Given the description of an element on the screen output the (x, y) to click on. 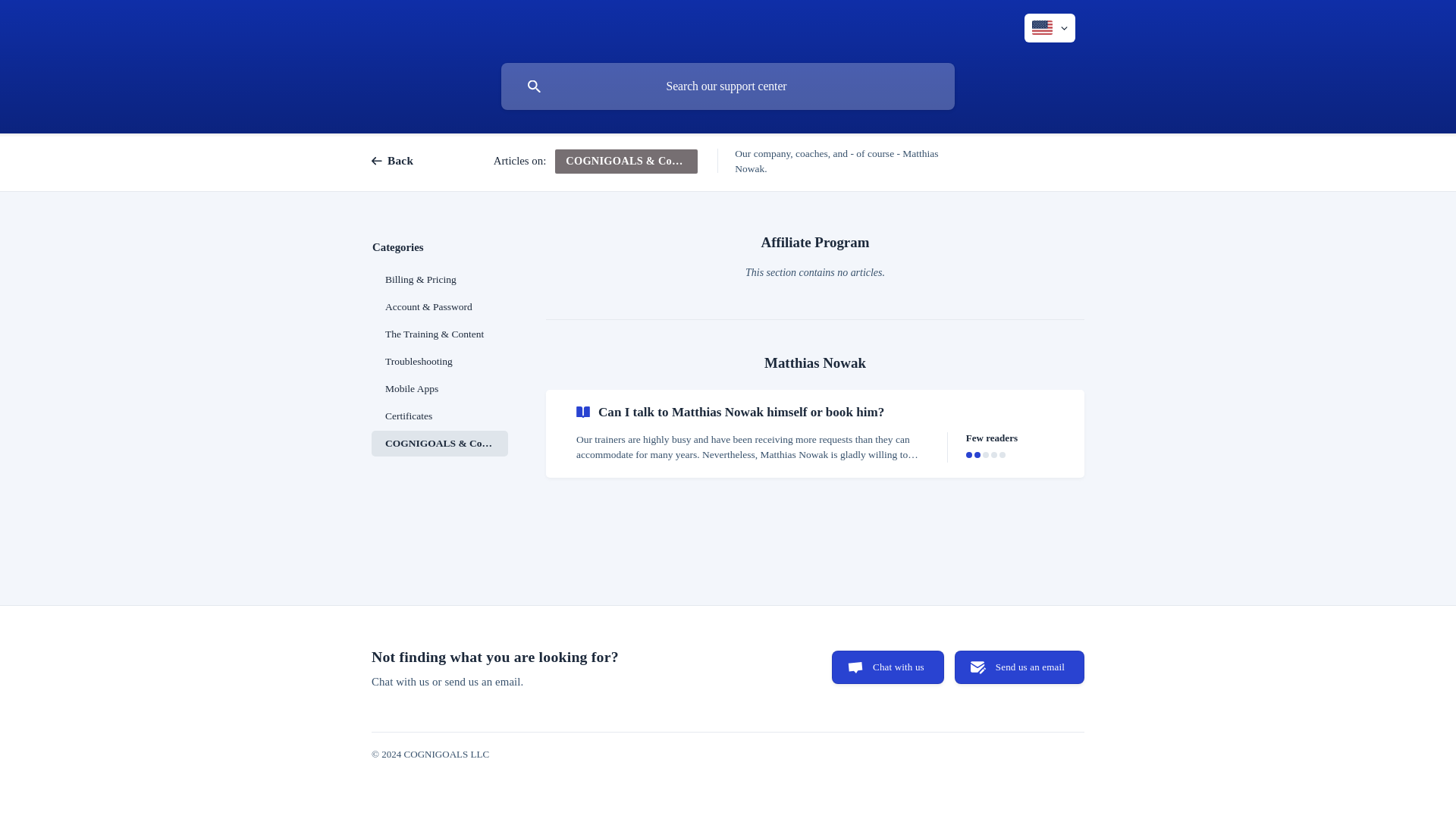
Back (406, 160)
Mobile Apps (439, 388)
Troubleshooting (439, 361)
Send us an email (1019, 666)
Chat with us (887, 666)
Certificates (439, 416)
